Given the description of an element on the screen output the (x, y) to click on. 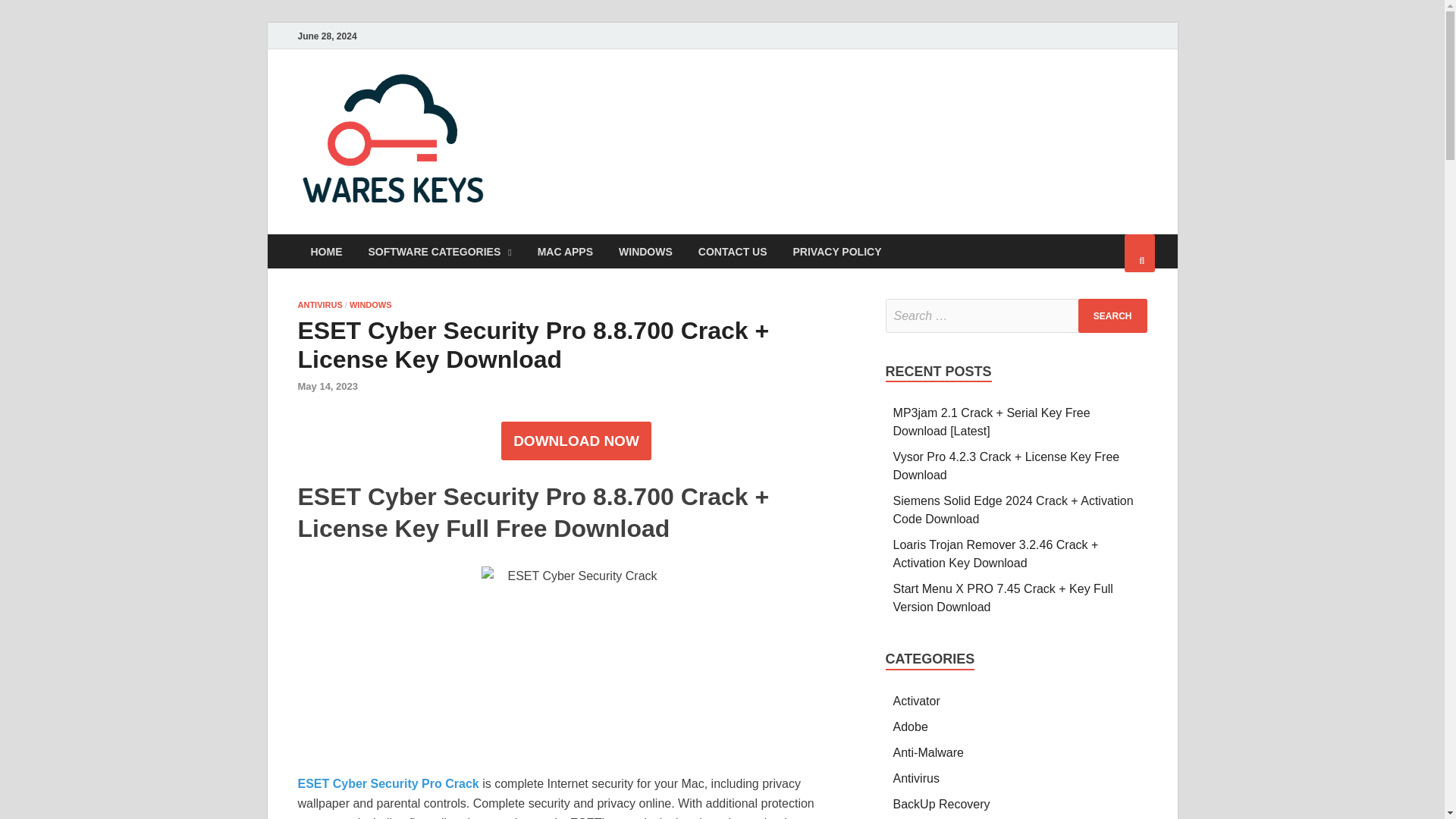
Search (1112, 315)
WINDOWS (645, 251)
CONTACT US (732, 251)
May 14, 2023 (327, 386)
ESET Cyber Security Pro Crack (388, 783)
HOME (326, 251)
WINDOWS (370, 304)
PRIVACY POLICY (837, 251)
MAC APPS (564, 251)
DOWNLOAD NOW (575, 440)
Search (1112, 315)
ANTIVIRUS (319, 304)
SOFTWARE CATEGORIES (439, 251)
DOWNLOAD NOW (575, 440)
Wares Keys (576, 100)
